Given the description of an element on the screen output the (x, y) to click on. 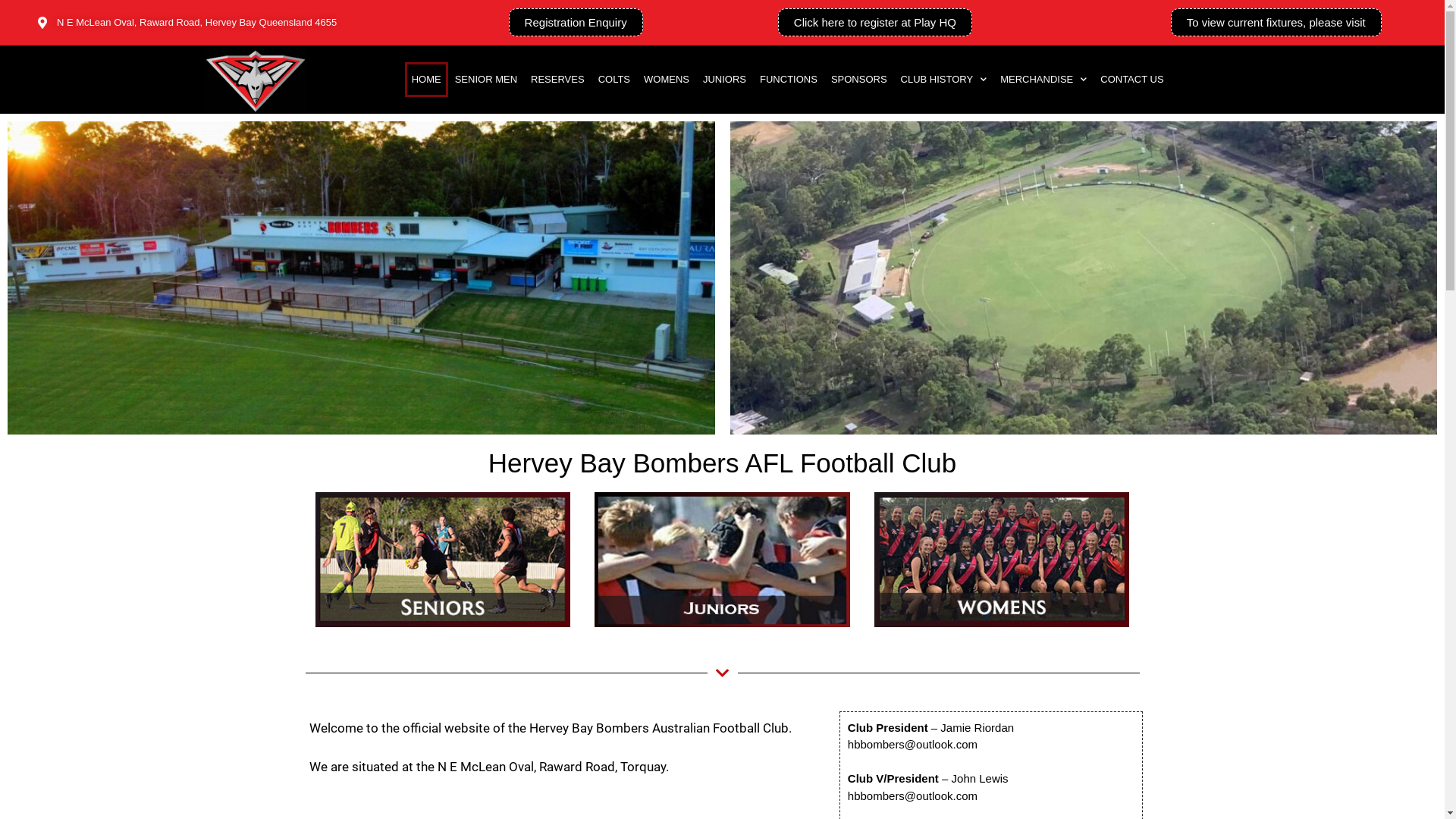
HOME Element type: text (426, 79)
JUNIORS Element type: text (724, 79)
SPONSORS Element type: text (859, 79)
MERCHANDISE Element type: text (1043, 79)
Registration Enquiry Element type: text (575, 22)
To view current fixtures, please visit Element type: text (1275, 22)
COLTS Element type: text (614, 79)
CONTACT US Element type: text (1131, 79)
Click here to register at Play HQ Element type: text (875, 22)
CLUB HISTORY Element type: text (944, 79)
FUNCTIONS Element type: text (788, 79)
SENIOR MEN Element type: text (486, 79)
RESERVES Element type: text (557, 79)
WOMENS Element type: text (666, 79)
